Given the description of an element on the screen output the (x, y) to click on. 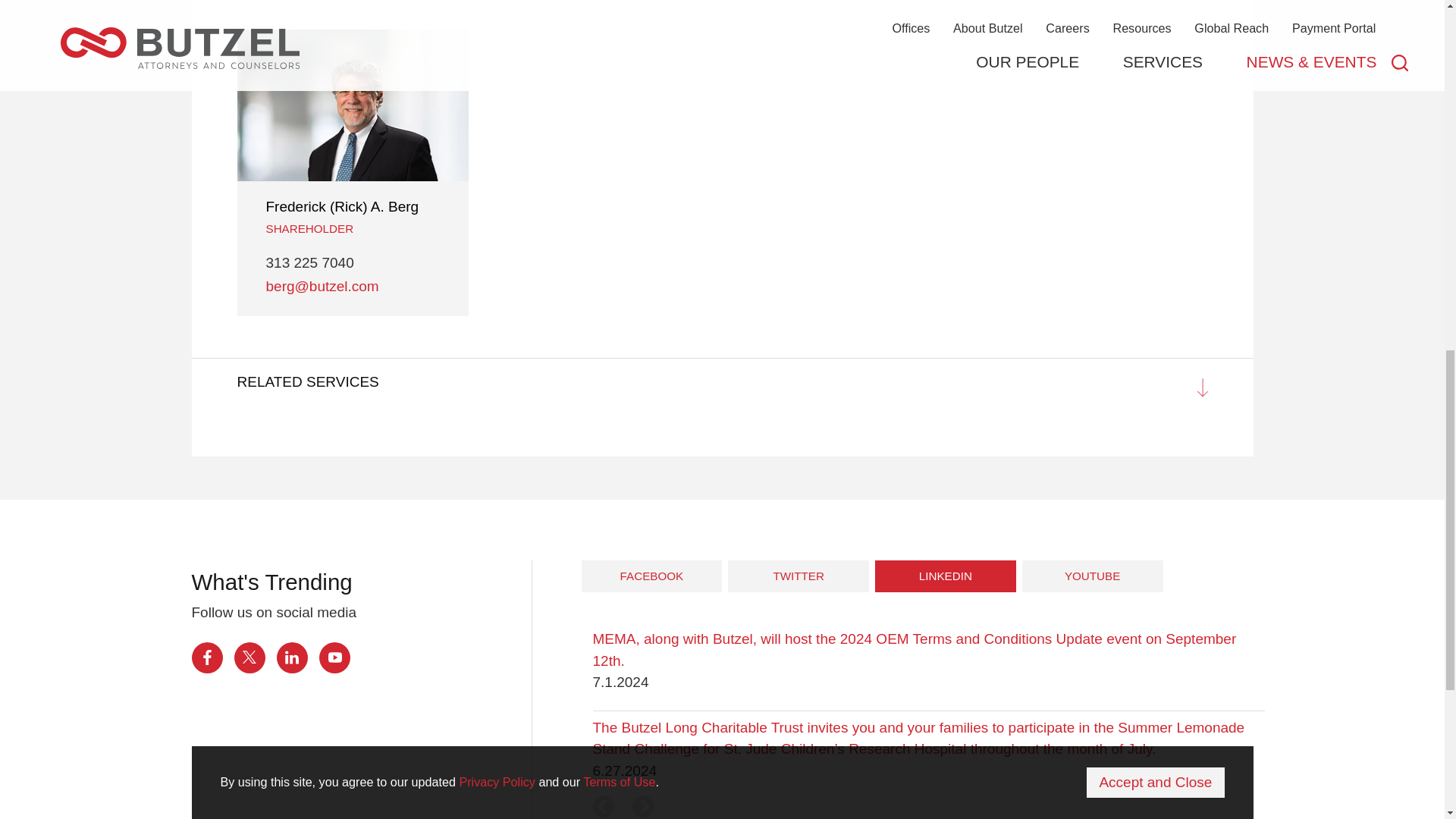
X (249, 657)
Facebook (206, 657)
YouTube (334, 657)
LinkedIn (291, 657)
